Given the description of an element on the screen output the (x, y) to click on. 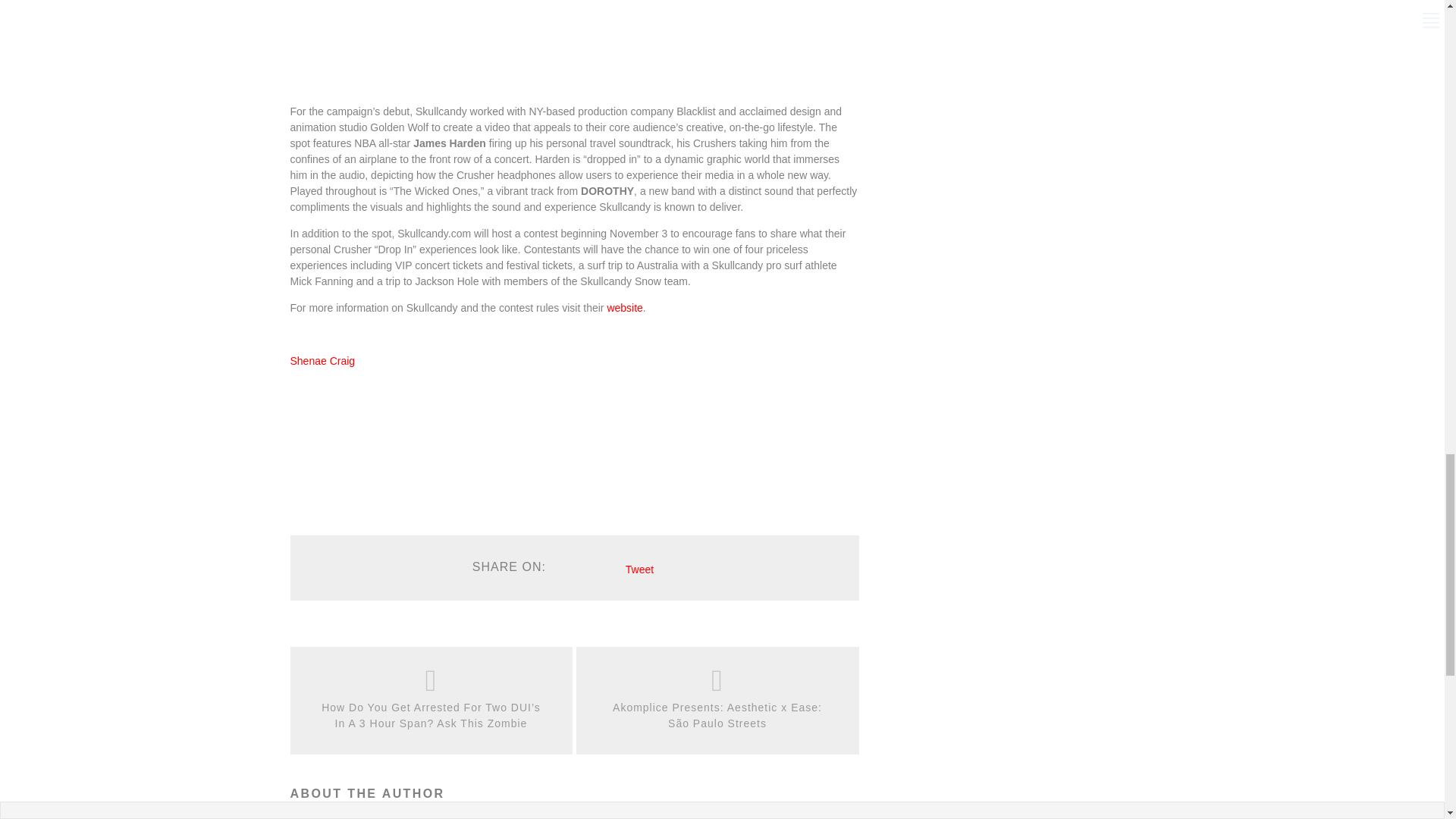
Shenae Craig (322, 360)
website (624, 307)
Tweet (639, 569)
